Given the description of an element on the screen output the (x, y) to click on. 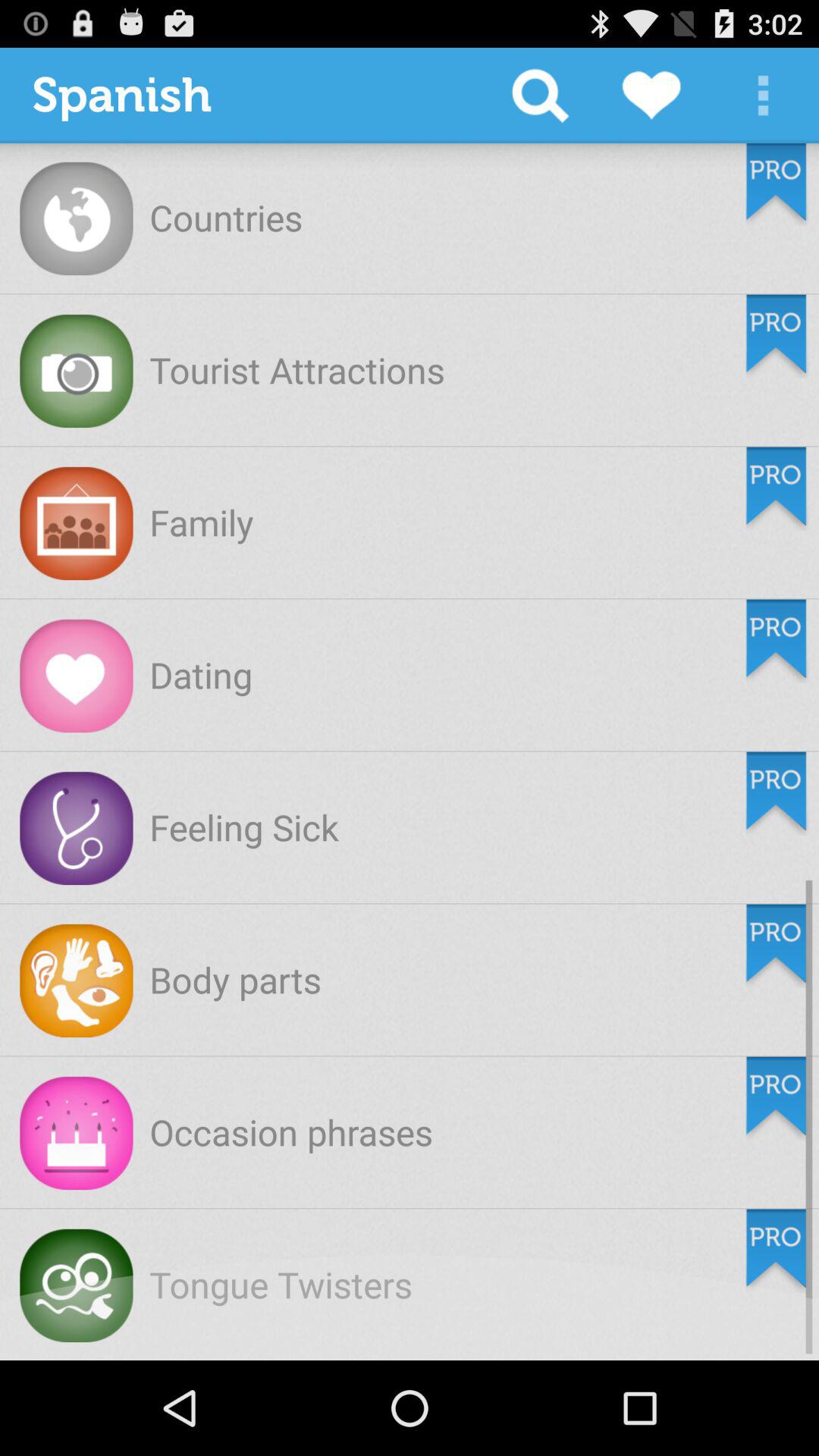
press body parts item (235, 979)
